Given the description of an element on the screen output the (x, y) to click on. 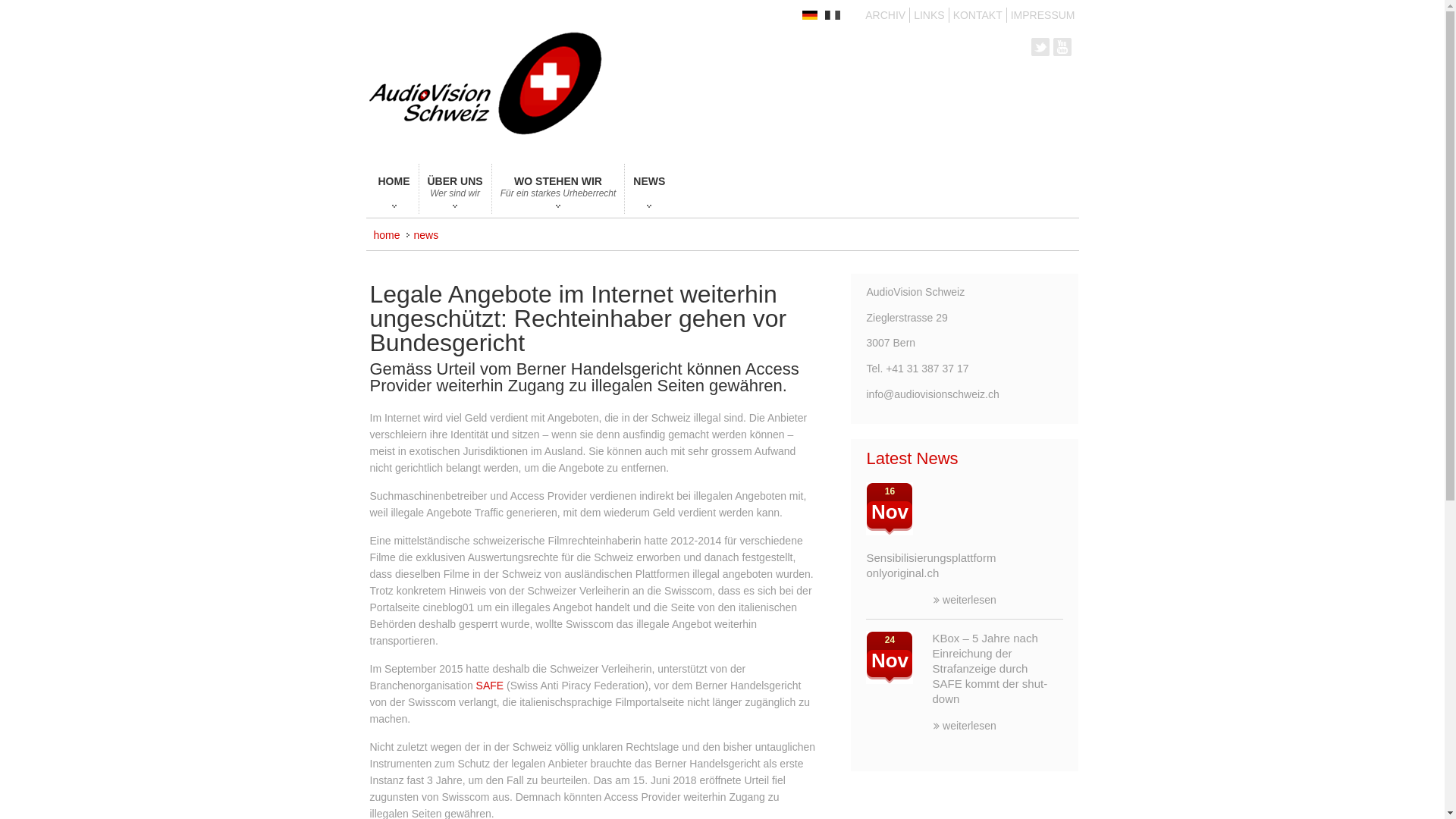
NEWS Element type: text (648, 188)
LINKS Element type: text (928, 15)
KONTAKT Element type: text (977, 15)
IMPRESSUM Element type: text (1043, 15)
deutsch Element type: hover (809, 14)
news Element type: text (426, 235)
SAFE Element type: text (490, 685)
francais Element type: hover (832, 14)
weiterlesen Element type: text (964, 599)
weiterlesen Element type: text (964, 725)
home Element type: text (386, 235)
HOME Element type: text (394, 188)
ARCHIV Element type: text (885, 15)
